Given the description of an element on the screen output the (x, y) to click on. 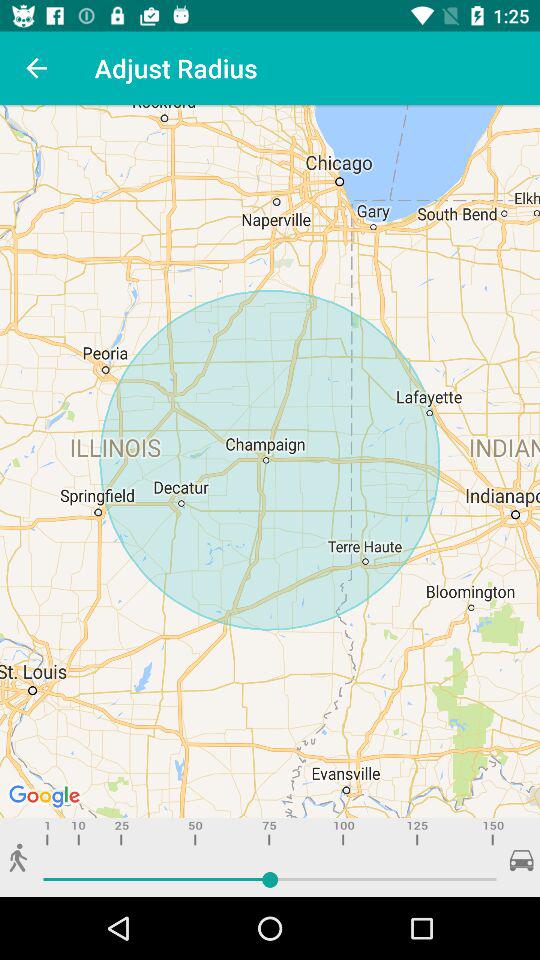
open item at the center (270, 461)
